Given the description of an element on the screen output the (x, y) to click on. 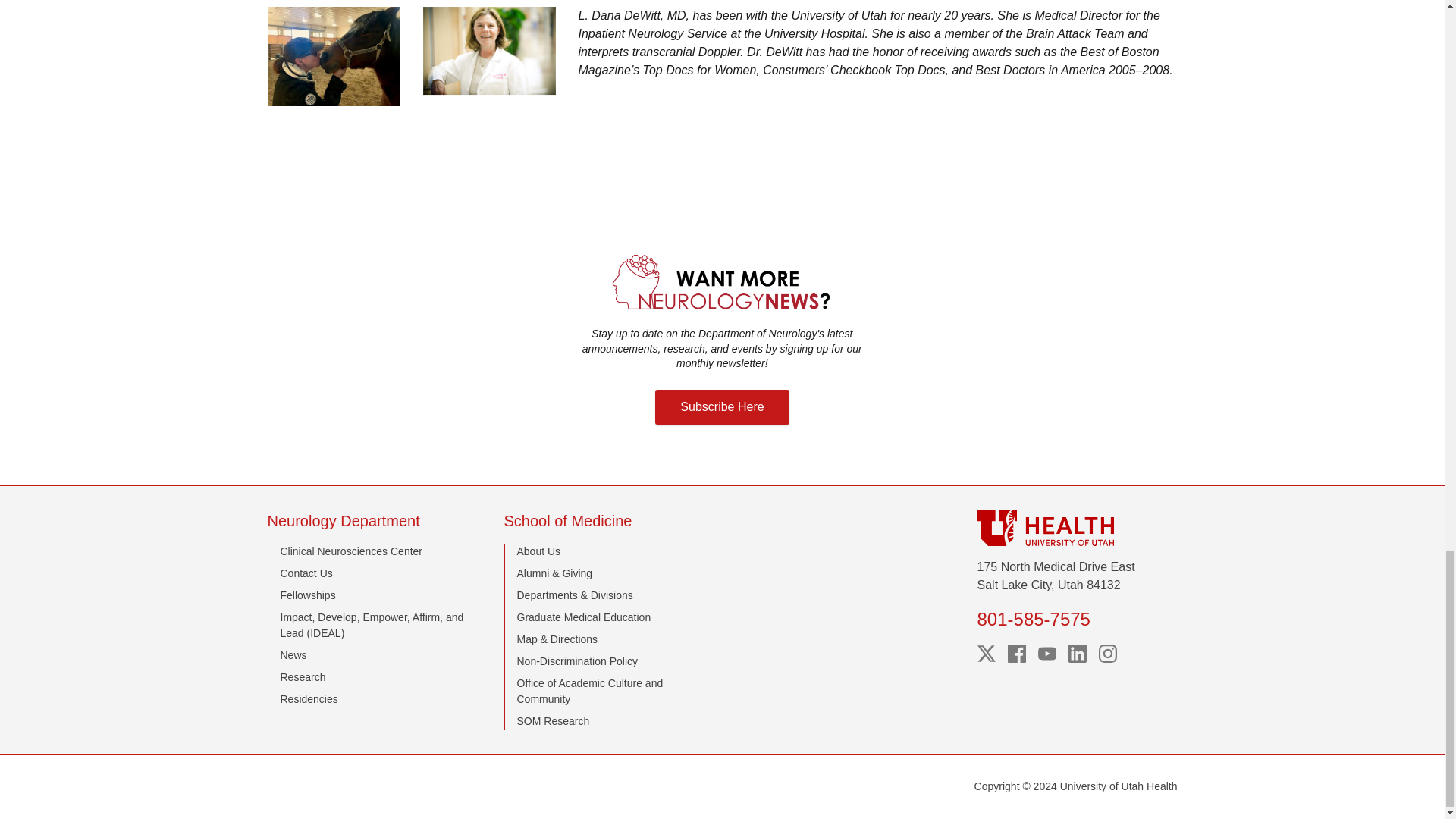
Office of Academic Culture and Community (589, 691)
University of Utah Healthcare (1076, 528)
Fellowships (308, 594)
Clinical Neurosciences Center (352, 551)
Graduate Medical Education (583, 616)
Contact Us (307, 573)
SOM Research (552, 720)
News (294, 654)
Subscribe Here (722, 407)
Non-Discrimination Policy (577, 661)
